Given the description of an element on the screen output the (x, y) to click on. 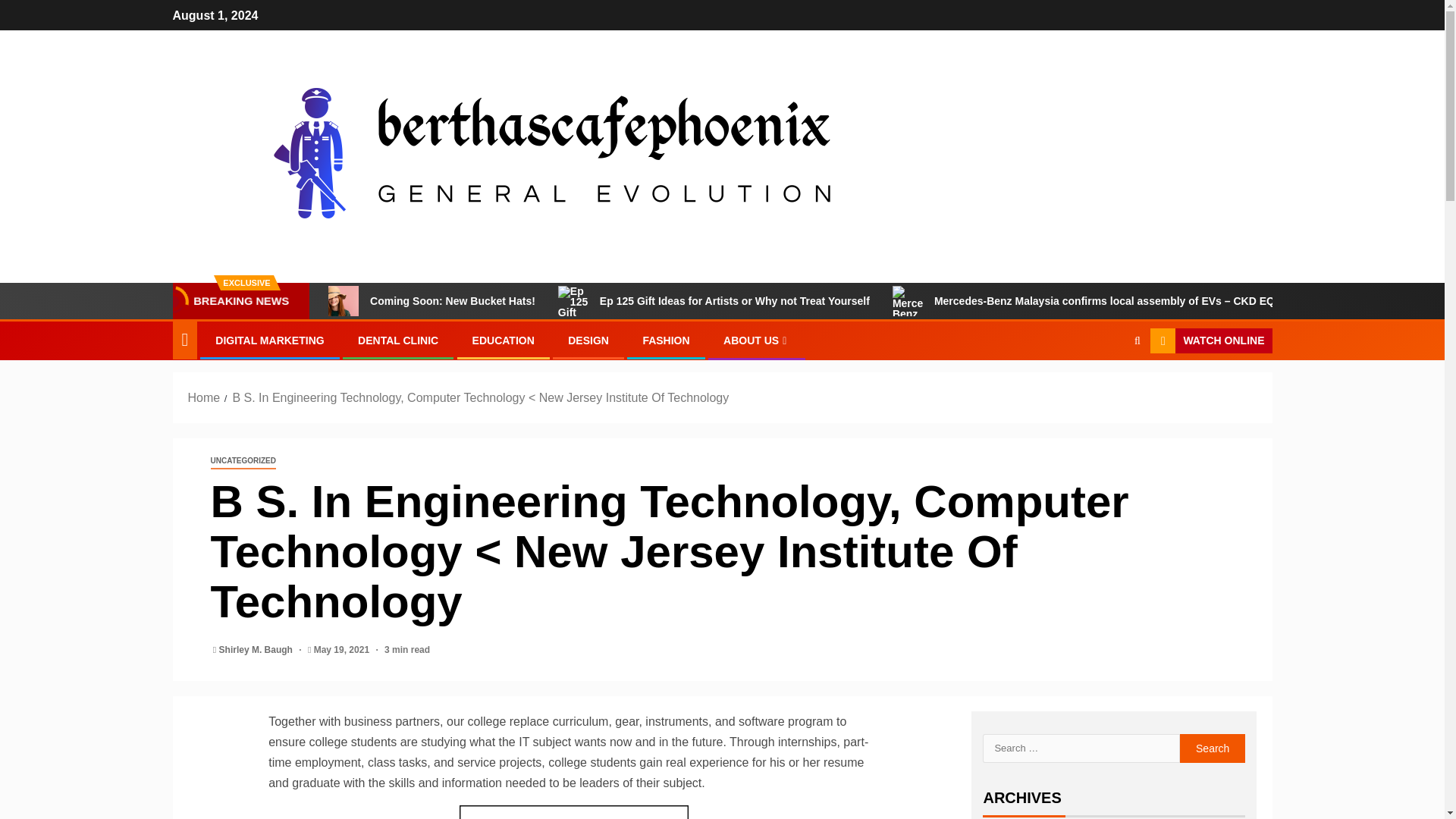
Coming Soon: New Bucket Hats! (343, 300)
Home (204, 397)
ABOUT US (756, 340)
DENTAL CLINIC (398, 340)
Search (1212, 747)
UNCATEGORIZED (243, 461)
Ep 125 Gift Ideas for Artists or Why not Treat Yourself (713, 300)
EDUCATION (502, 340)
Search (1107, 387)
FASHION (665, 340)
